Given the description of an element on the screen output the (x, y) to click on. 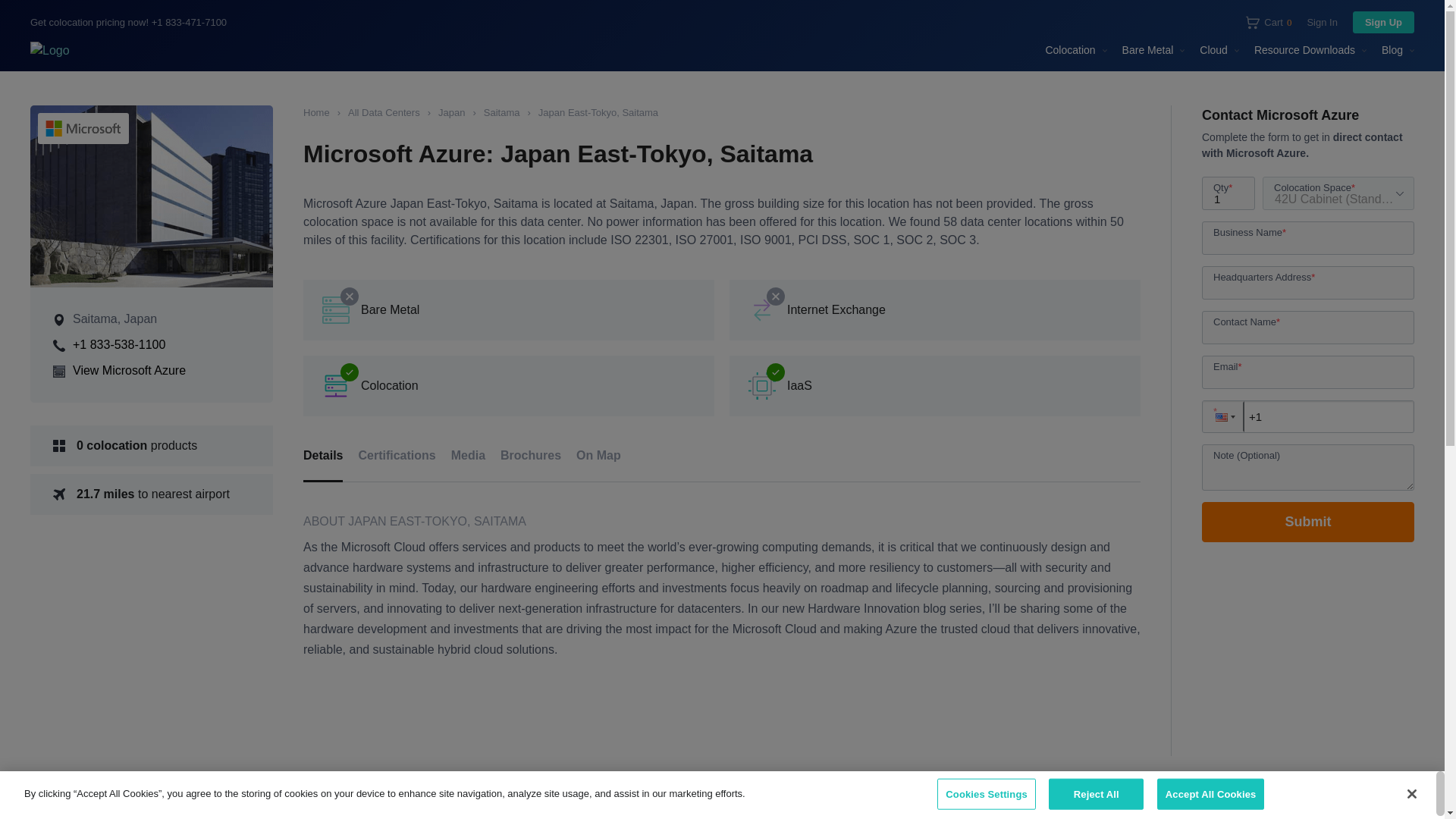
Sign Up (1382, 22)
1 (1228, 192)
Sign In (1321, 22)
